Given the description of an element on the screen output the (x, y) to click on. 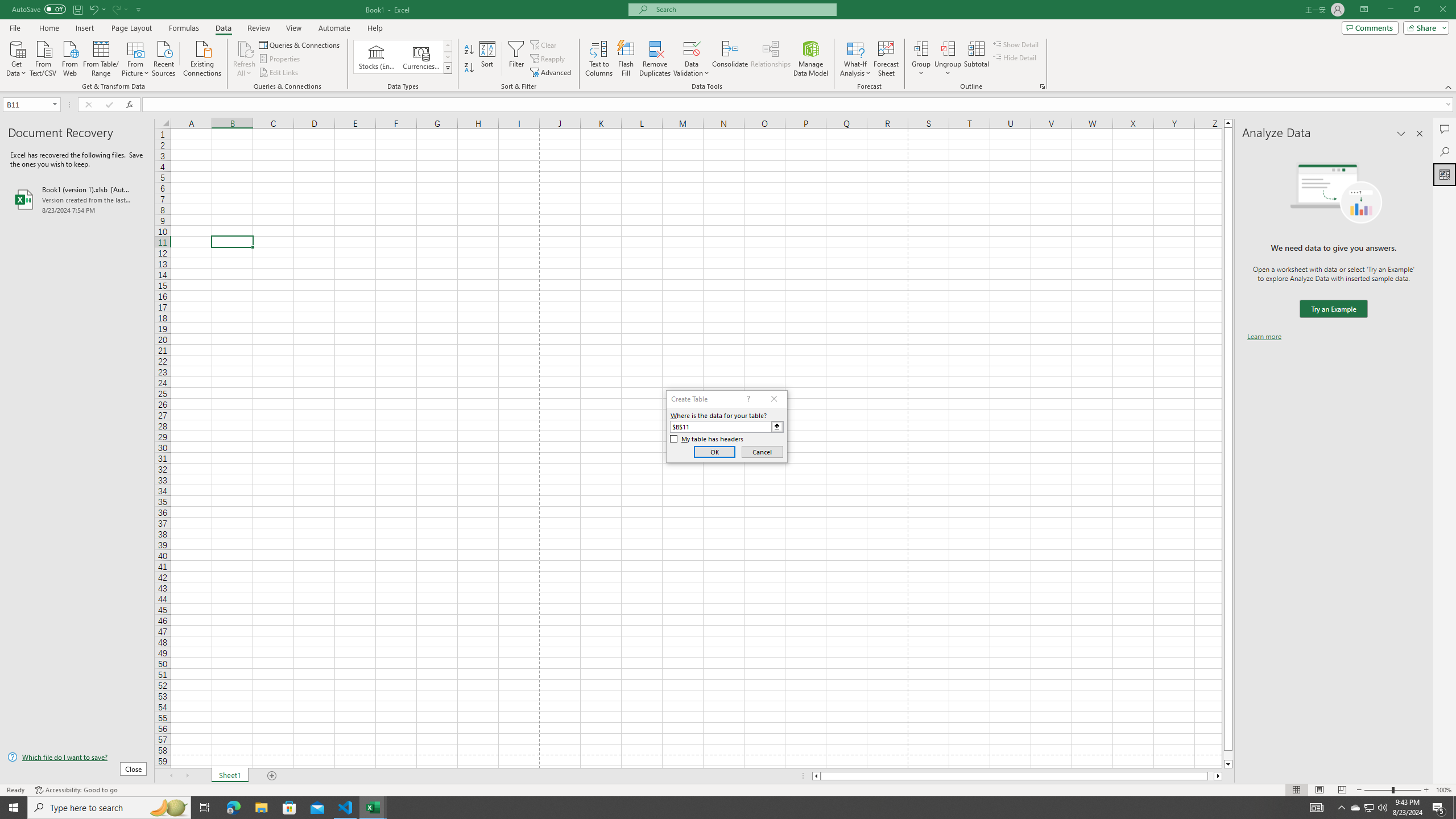
We need data to give you answers. Try an Example (1333, 308)
Recent Sources (163, 57)
Relationships (770, 58)
Class: MsoCommandBar (728, 45)
What-If Analysis (855, 58)
Sort Z to A (469, 67)
Analyze Data (1444, 173)
